Given the description of an element on the screen output the (x, y) to click on. 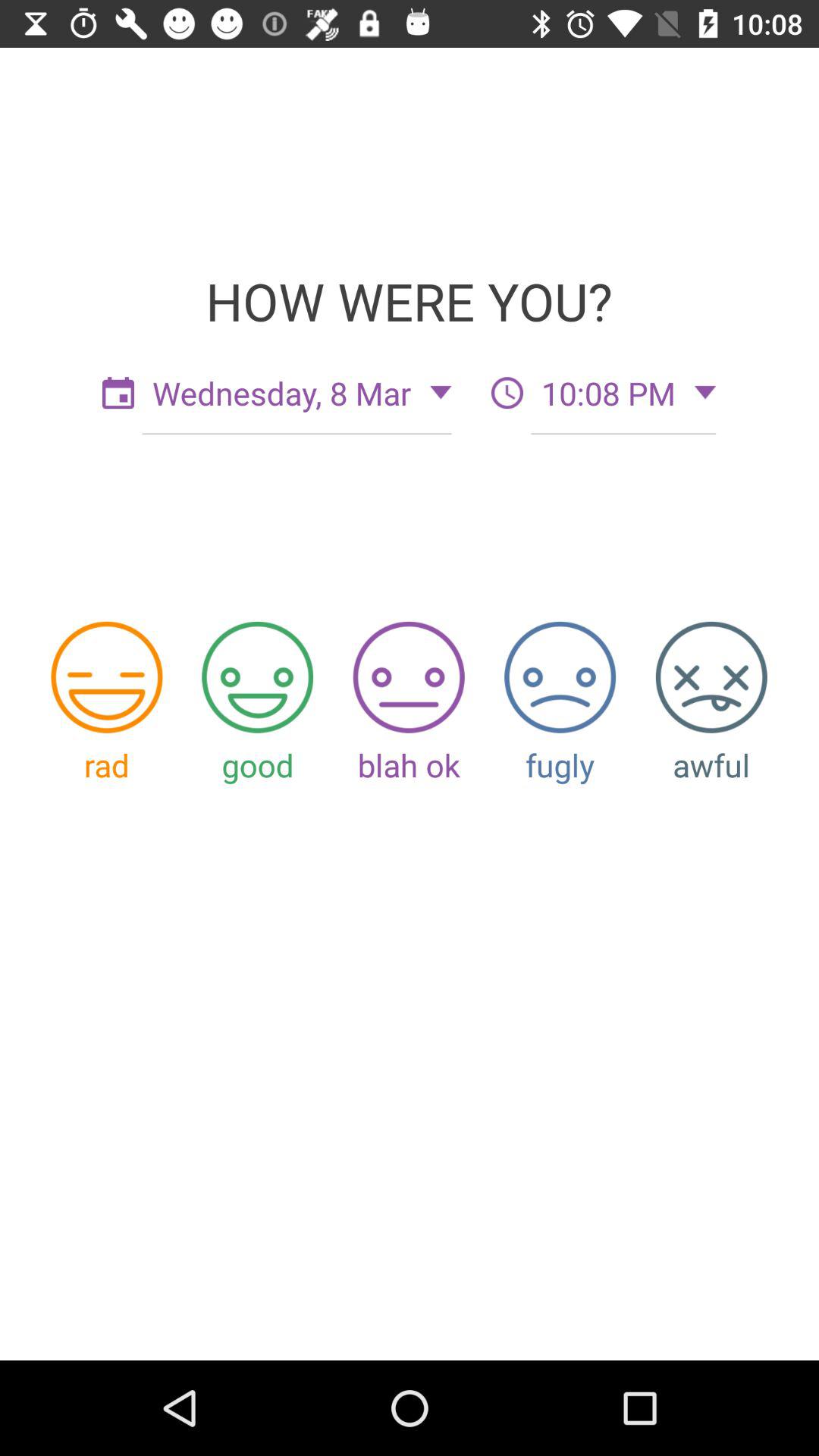
go to awful (711, 677)
